Given the description of an element on the screen output the (x, y) to click on. 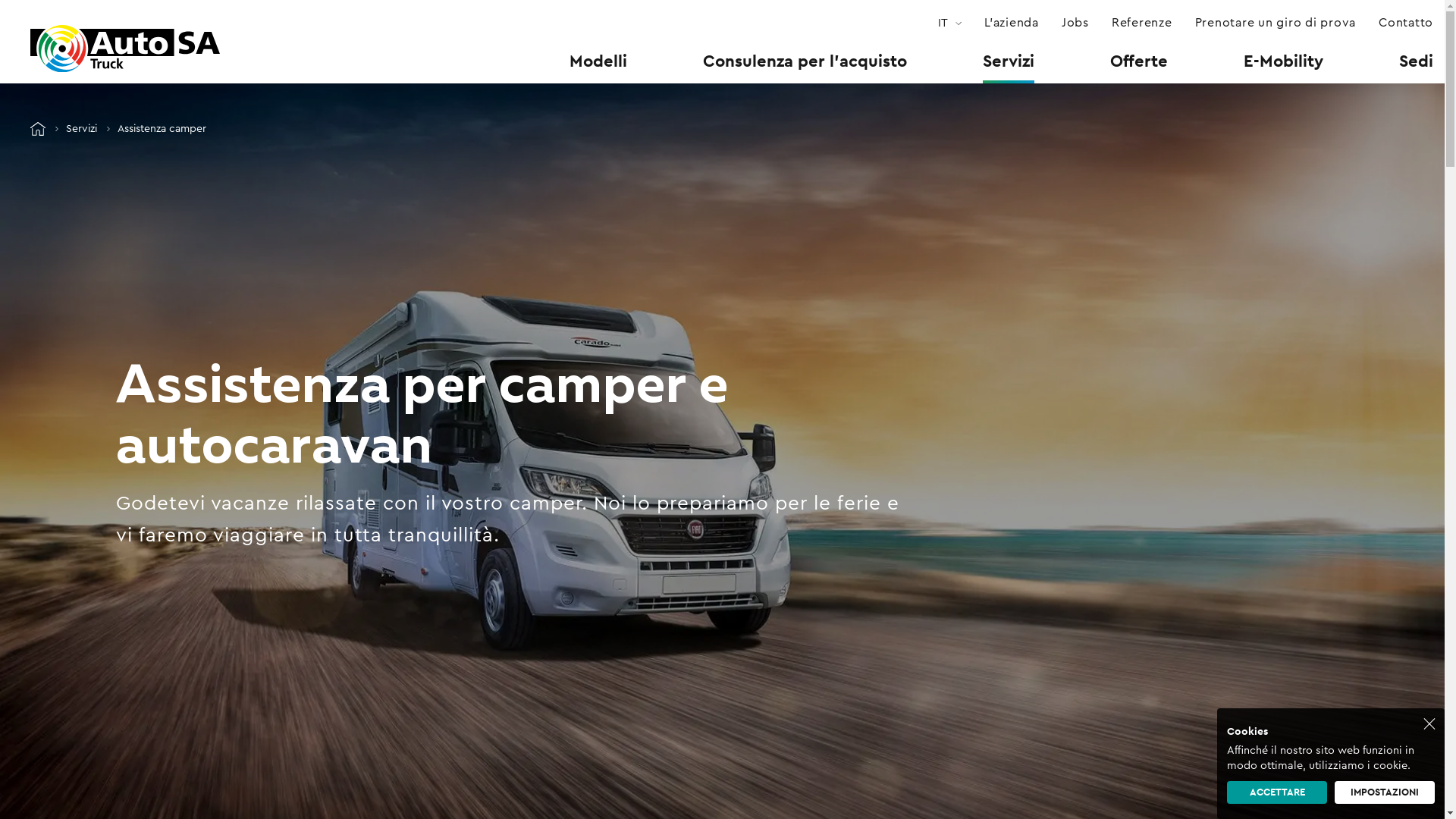
Prenotare un giro di prova Element type: text (1275, 22)
Referenze Element type: text (1141, 22)
Servizi Element type: text (81, 128)
Sedi Element type: text (1415, 60)
Jobs Element type: text (1074, 22)
ACCETTARE Element type: text (1276, 792)
Auto SA Truck Element type: text (37, 128)
Modelli Element type: text (598, 60)
E-Mobility Element type: text (1283, 60)
IMPOSTAZIONI Element type: text (1384, 792)
Servizi Element type: text (1008, 60)
Offerte Element type: text (1139, 60)
Close Element type: text (1429, 723)
Startseite Element type: text (124, 48)
Open sub menu Element type: text (11, 11)
Contatto Element type: text (1405, 22)
